Given the description of an element on the screen output the (x, y) to click on. 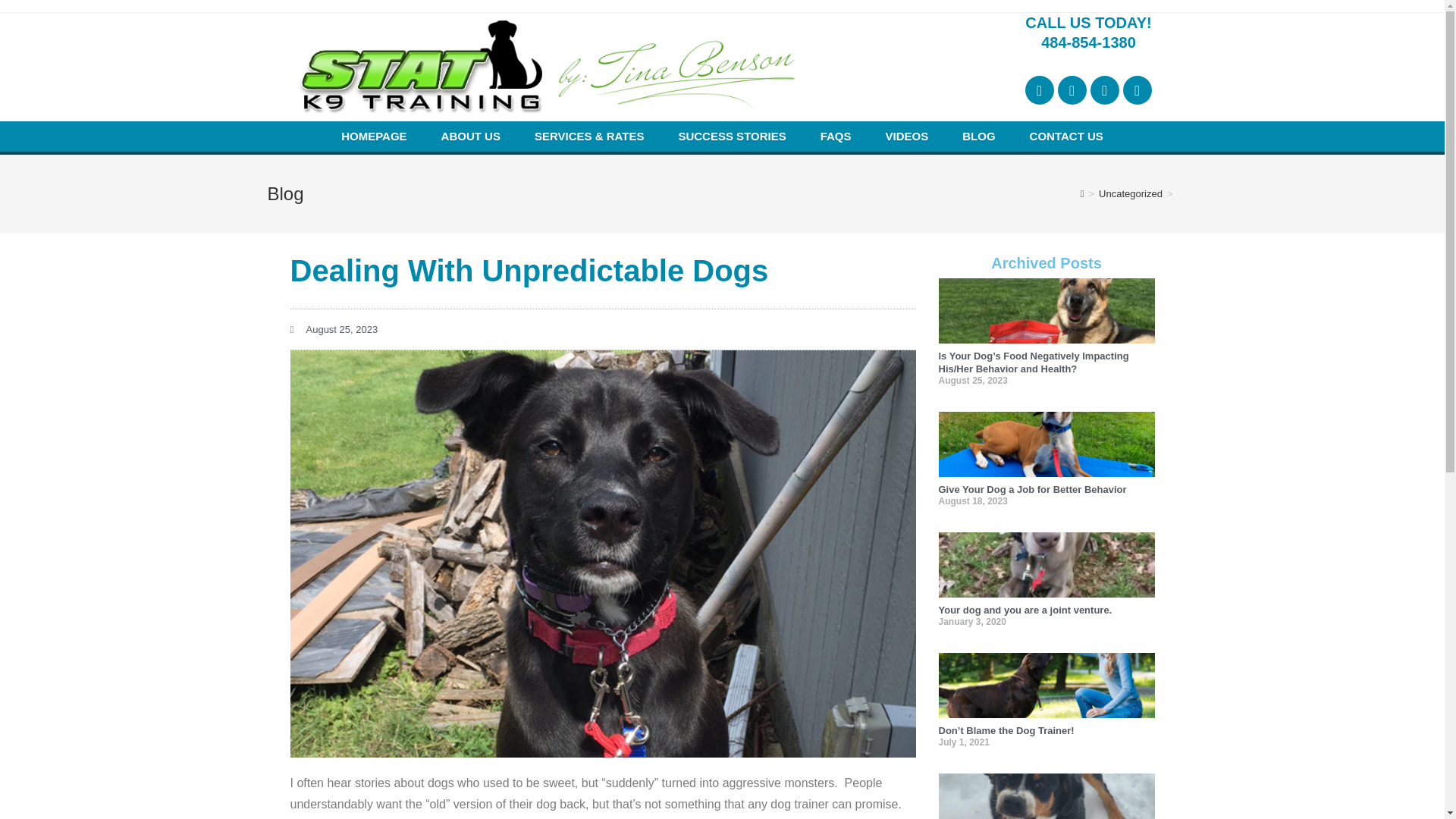
ABOUT US (470, 136)
FAQS (835, 136)
SUCCESS STORIES (731, 136)
Give Your Dog a Job for Better Behavior (1032, 489)
August 25, 2023 (333, 329)
CONTACT US (1066, 136)
Your dog and you are a joint venture. (1025, 609)
HOMEPAGE (374, 136)
VIDEOS (906, 136)
Uncategorized (1130, 193)
BLOG (978, 136)
